Given the description of an element on the screen output the (x, y) to click on. 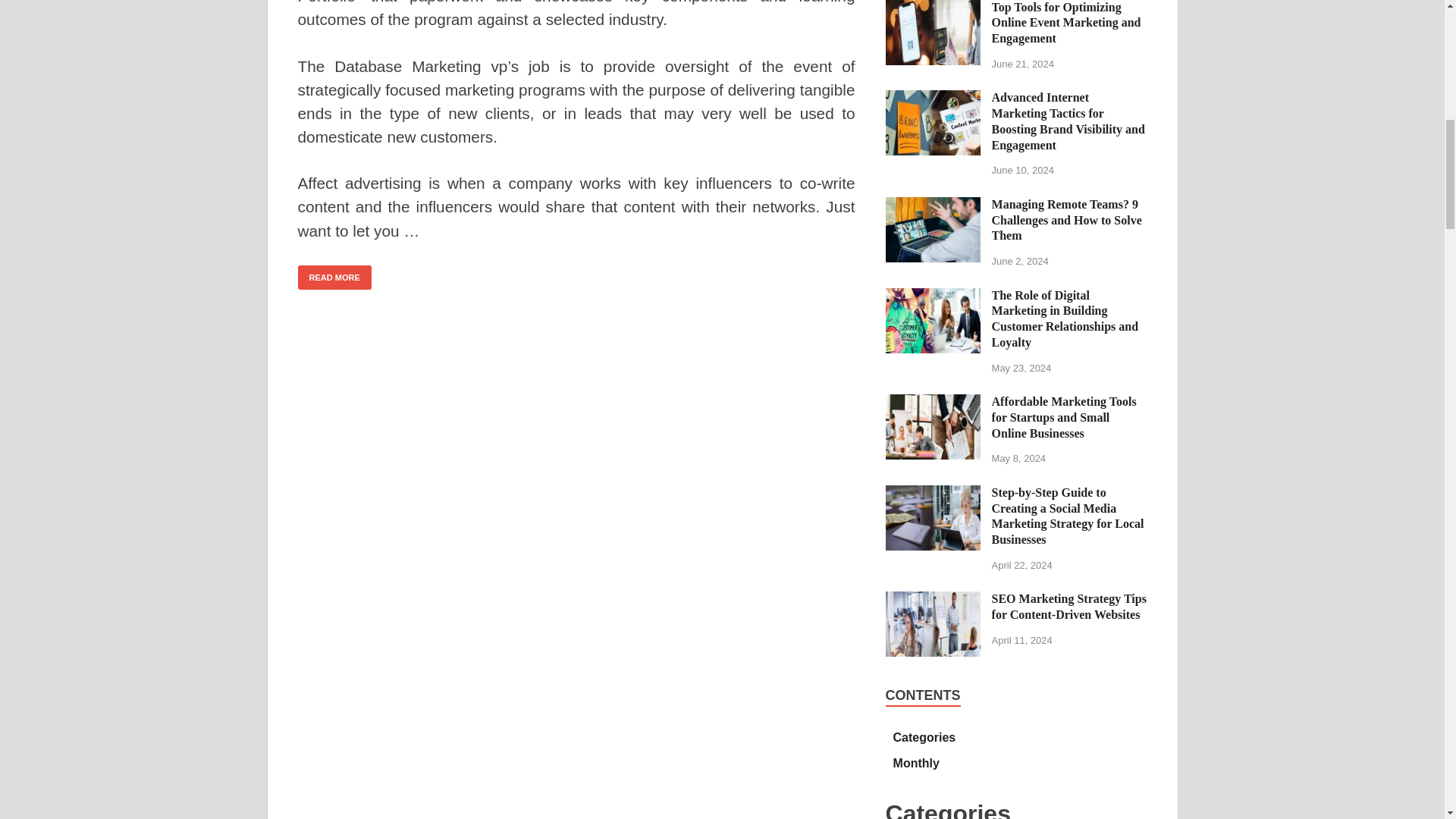
SEO Marketing Strategy Tips for Content-Driven Websites (932, 599)
Managing Remote Teams? 9 Challenges and How to Solve Them (932, 205)
READ MORE (334, 277)
